Given the description of an element on the screen output the (x, y) to click on. 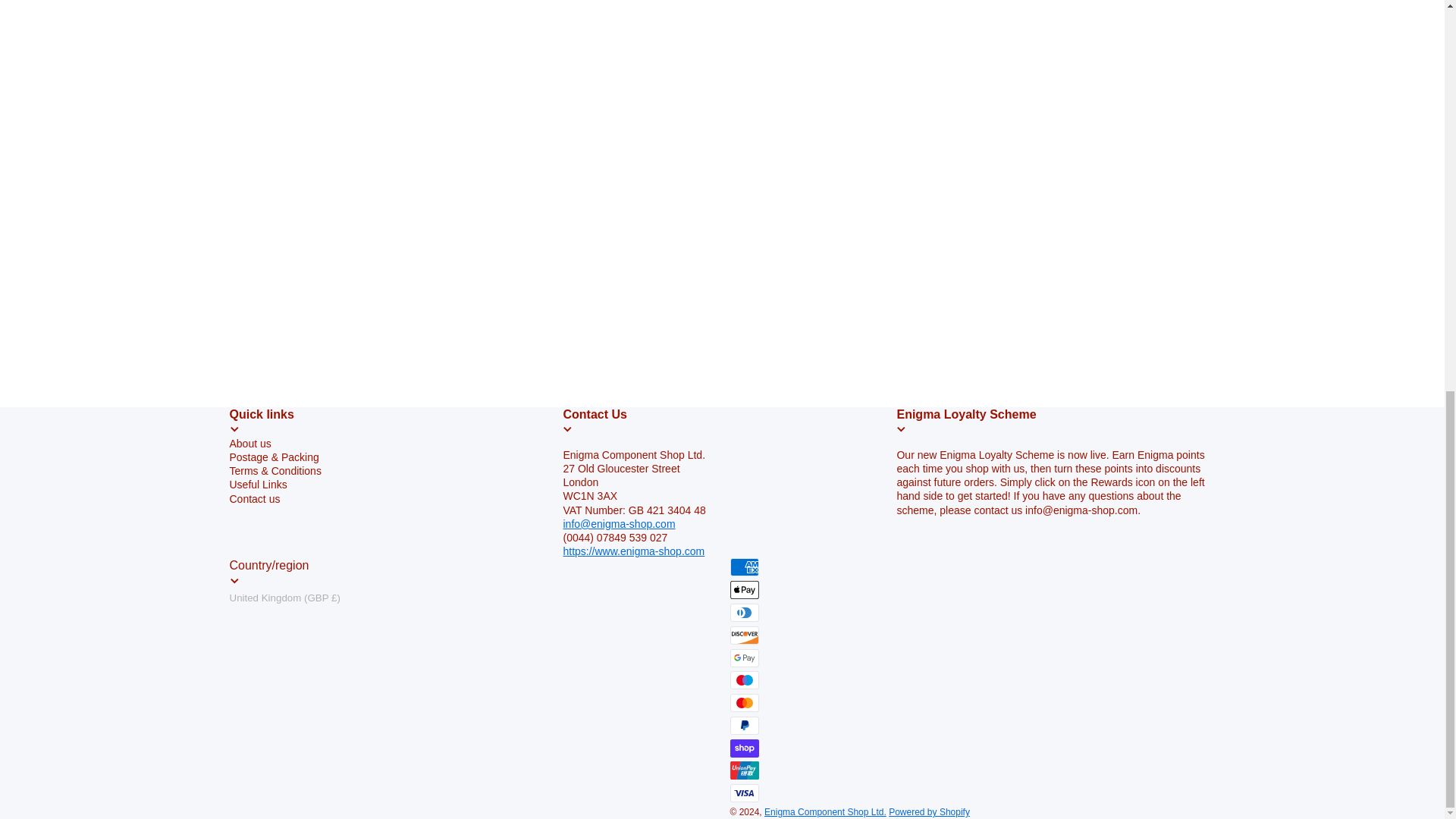
Apple Pay (743, 589)
Visa (743, 792)
Shop Pay (743, 748)
Union Pay (743, 770)
PayPal (743, 725)
Discover (743, 635)
Maestro (743, 679)
American Express (743, 566)
Diners Club (743, 612)
Google Pay (743, 658)
Mastercard (743, 702)
